Given the description of an element on the screen output the (x, y) to click on. 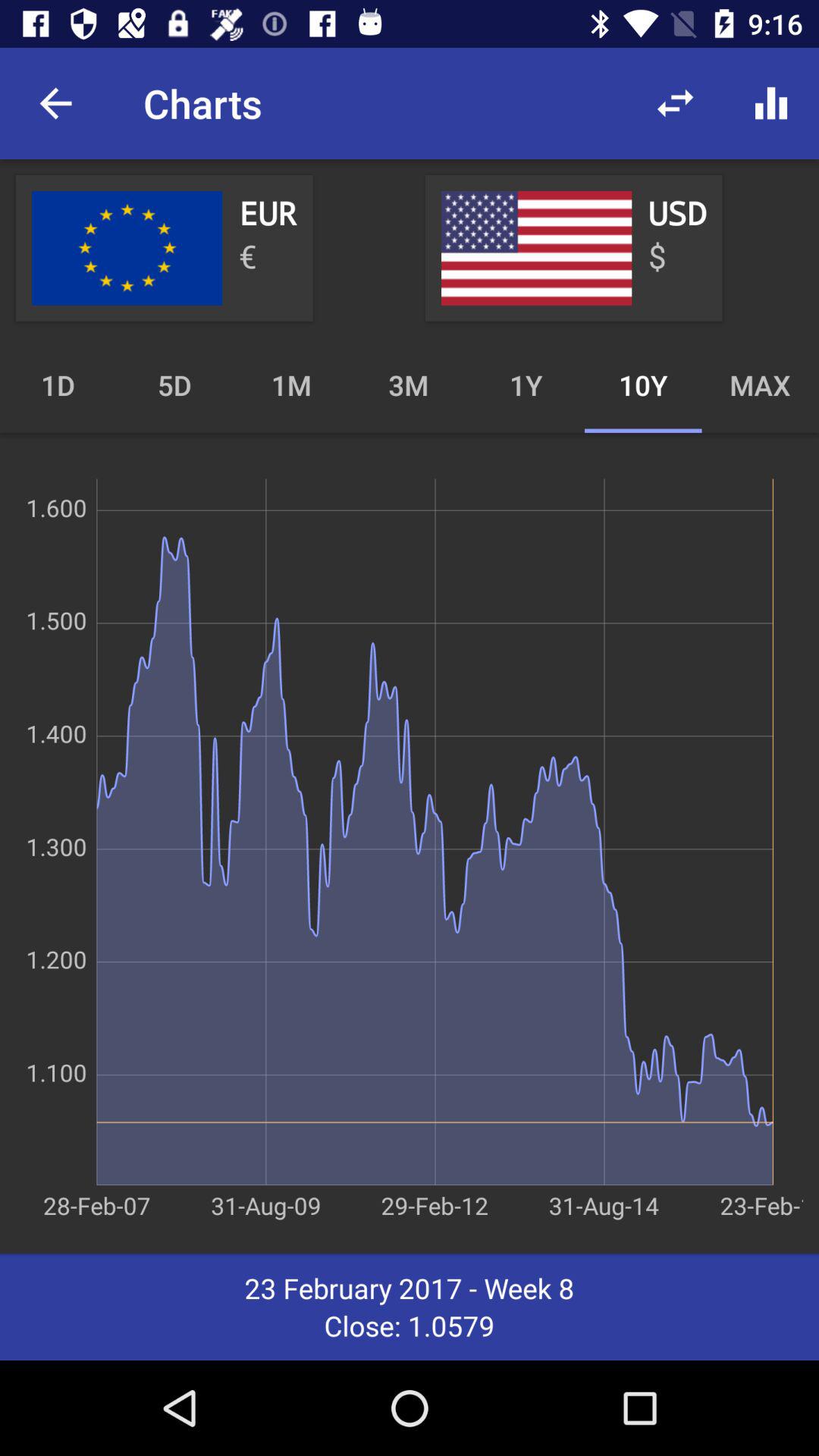
choose the item above the max icon (771, 103)
